Given the description of an element on the screen output the (x, y) to click on. 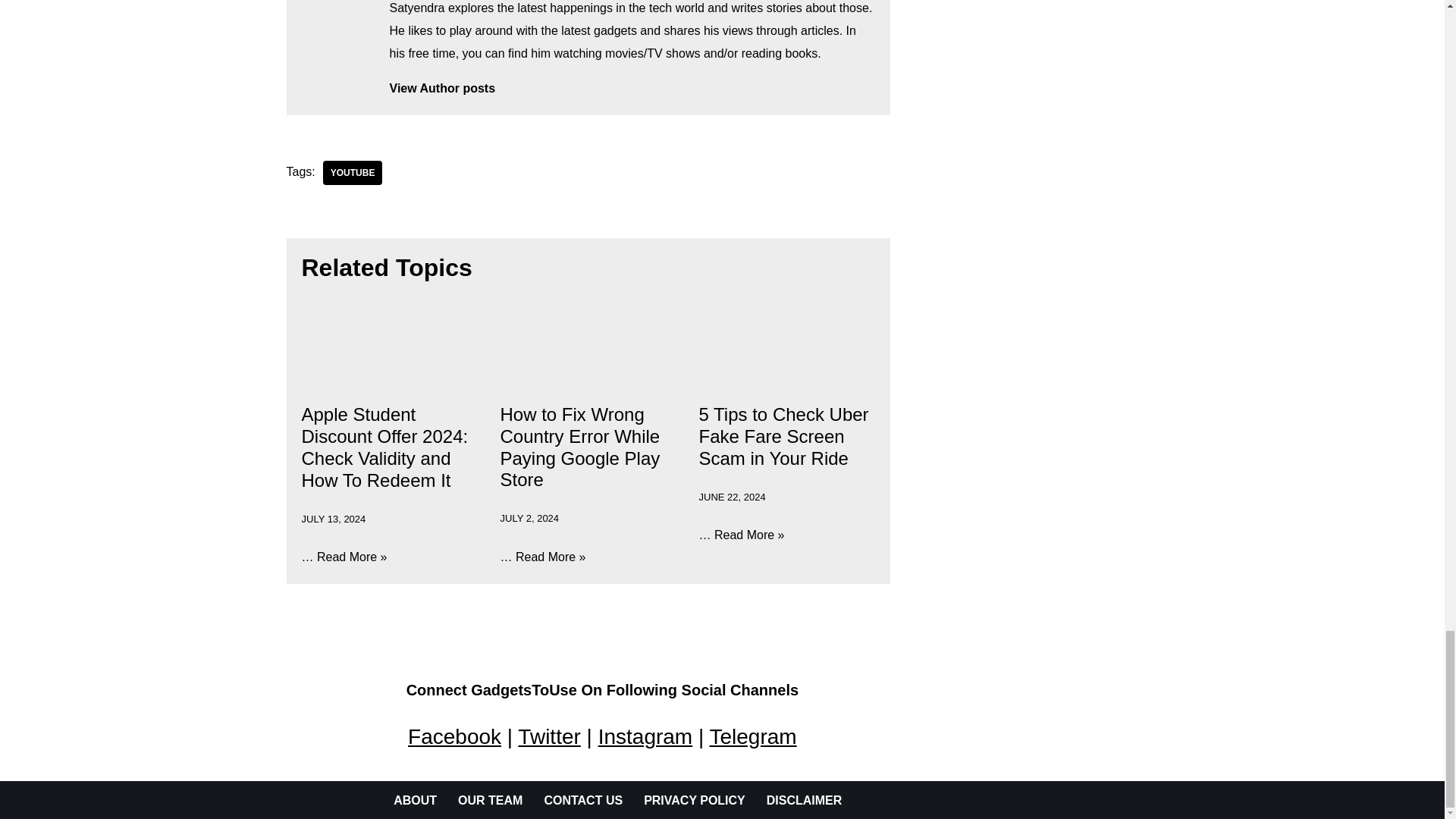
View Author posts (632, 87)
YouTube (352, 172)
YOUTUBE (352, 172)
